Given the description of an element on the screen output the (x, y) to click on. 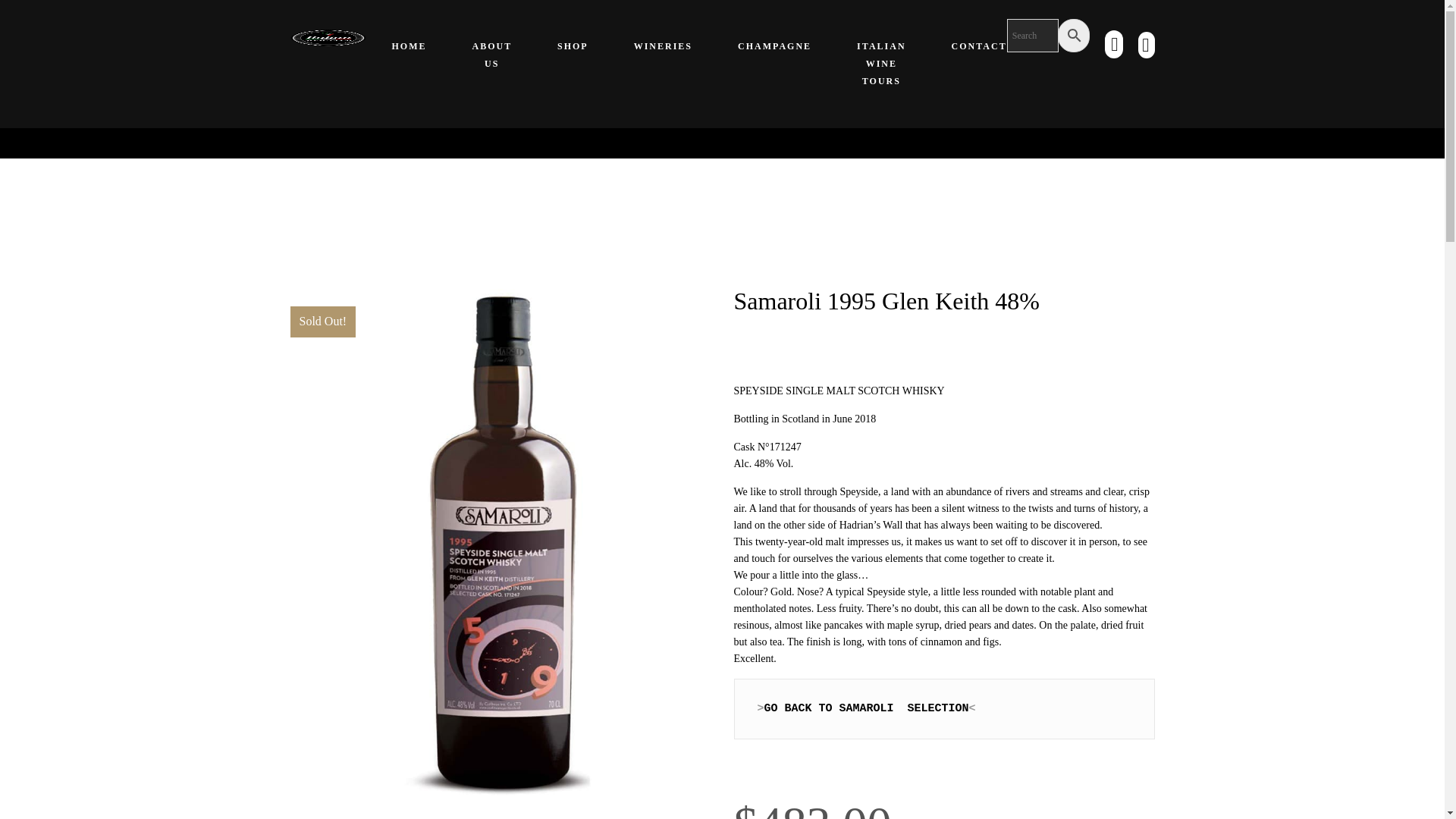
Shop (572, 46)
Italian Wine Club (327, 36)
SHOP (572, 46)
HOME (408, 46)
About us (491, 55)
WINERIES (662, 46)
home (408, 46)
ABOUT US (491, 55)
